Given the description of an element on the screen output the (x, y) to click on. 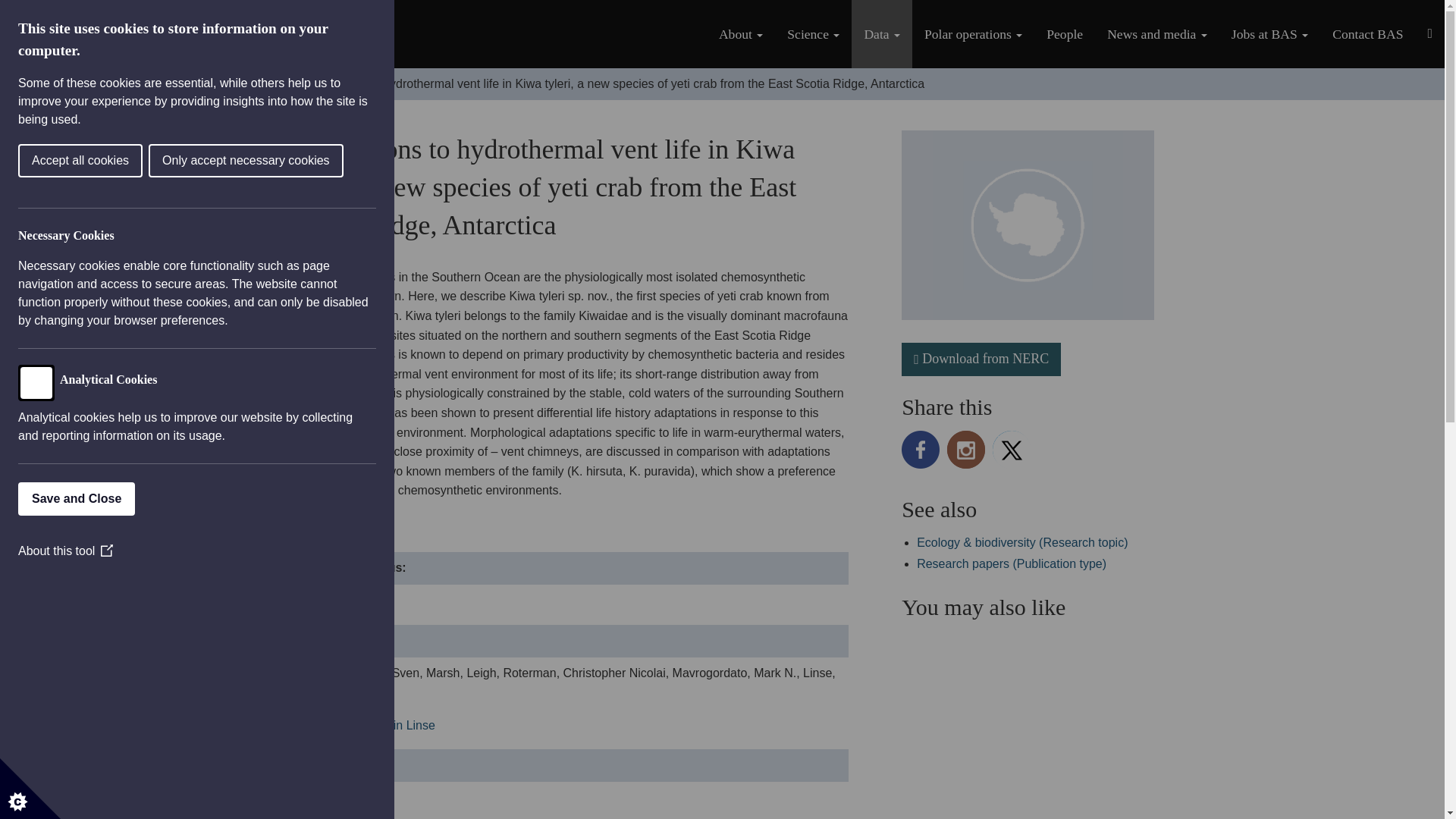
About (740, 33)
Only accept necessary cookies (55, 160)
